Given the description of an element on the screen output the (x, y) to click on. 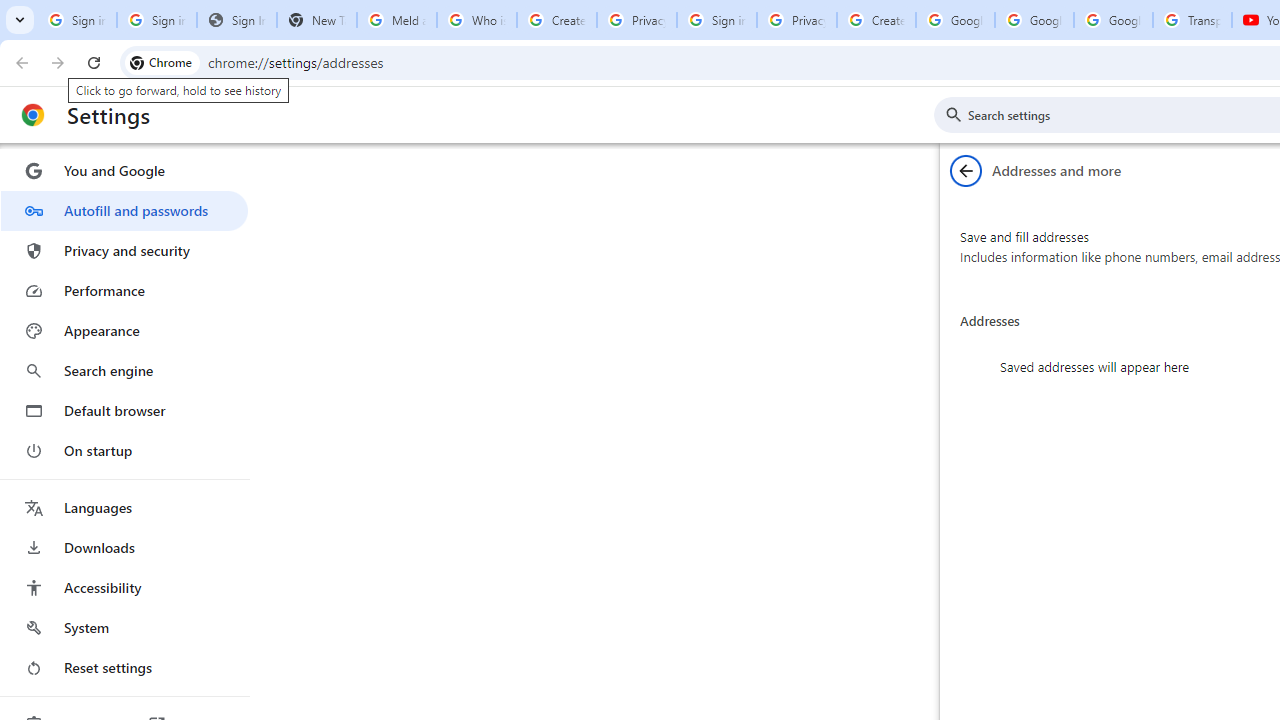
Accessibility (124, 587)
Search engine (124, 370)
Google Account (1113, 20)
Create your Google Account (876, 20)
New Tab (316, 20)
Performance (124, 290)
Sign In - USA TODAY (236, 20)
Reset settings (124, 668)
